Given the description of an element on the screen output the (x, y) to click on. 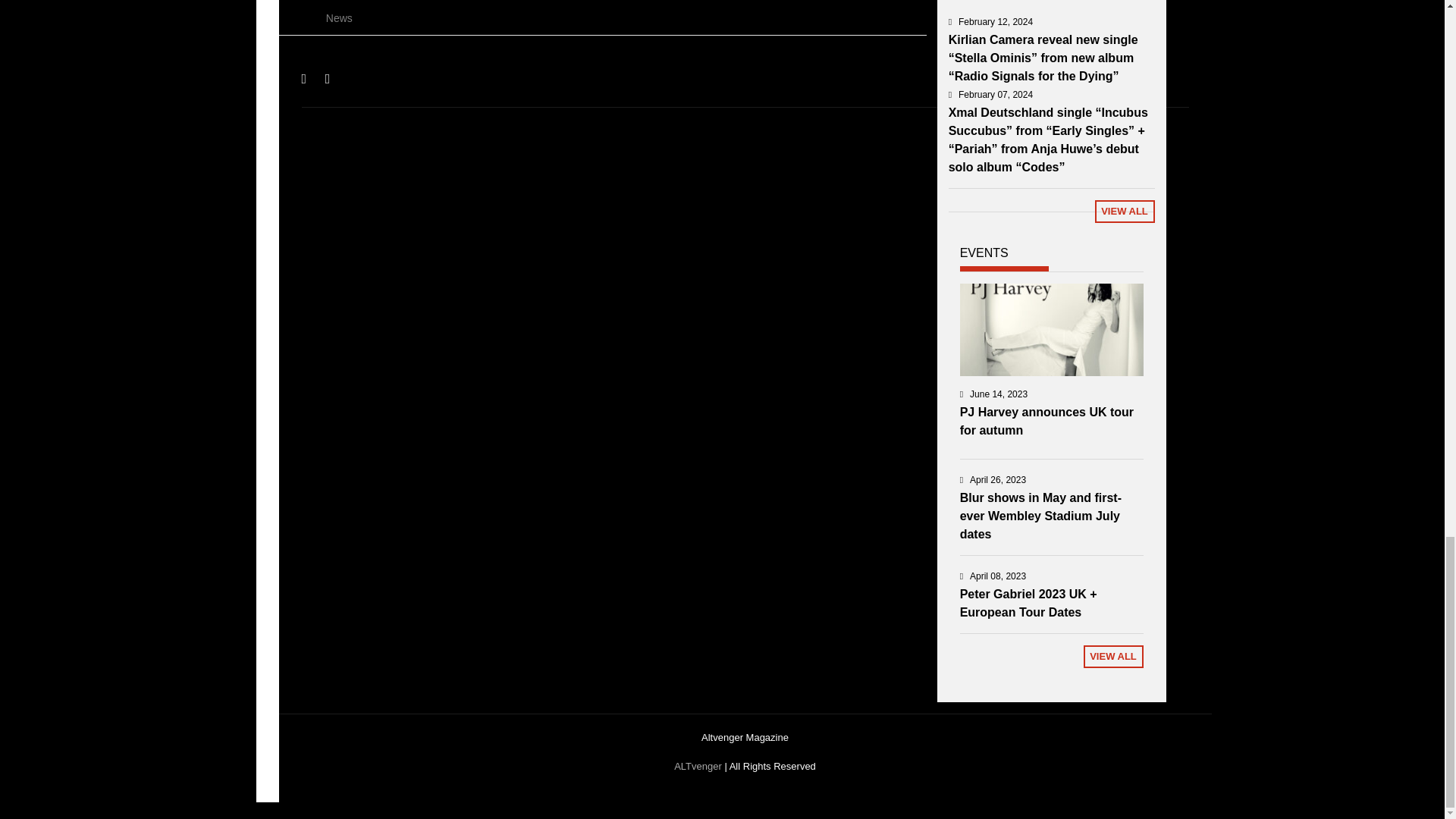
PJ Harvey announces UK tour for autumn (1046, 420)
View All (1124, 210)
PJ Harvey announces UK tour for autumn (1050, 329)
